Given the description of an element on the screen output the (x, y) to click on. 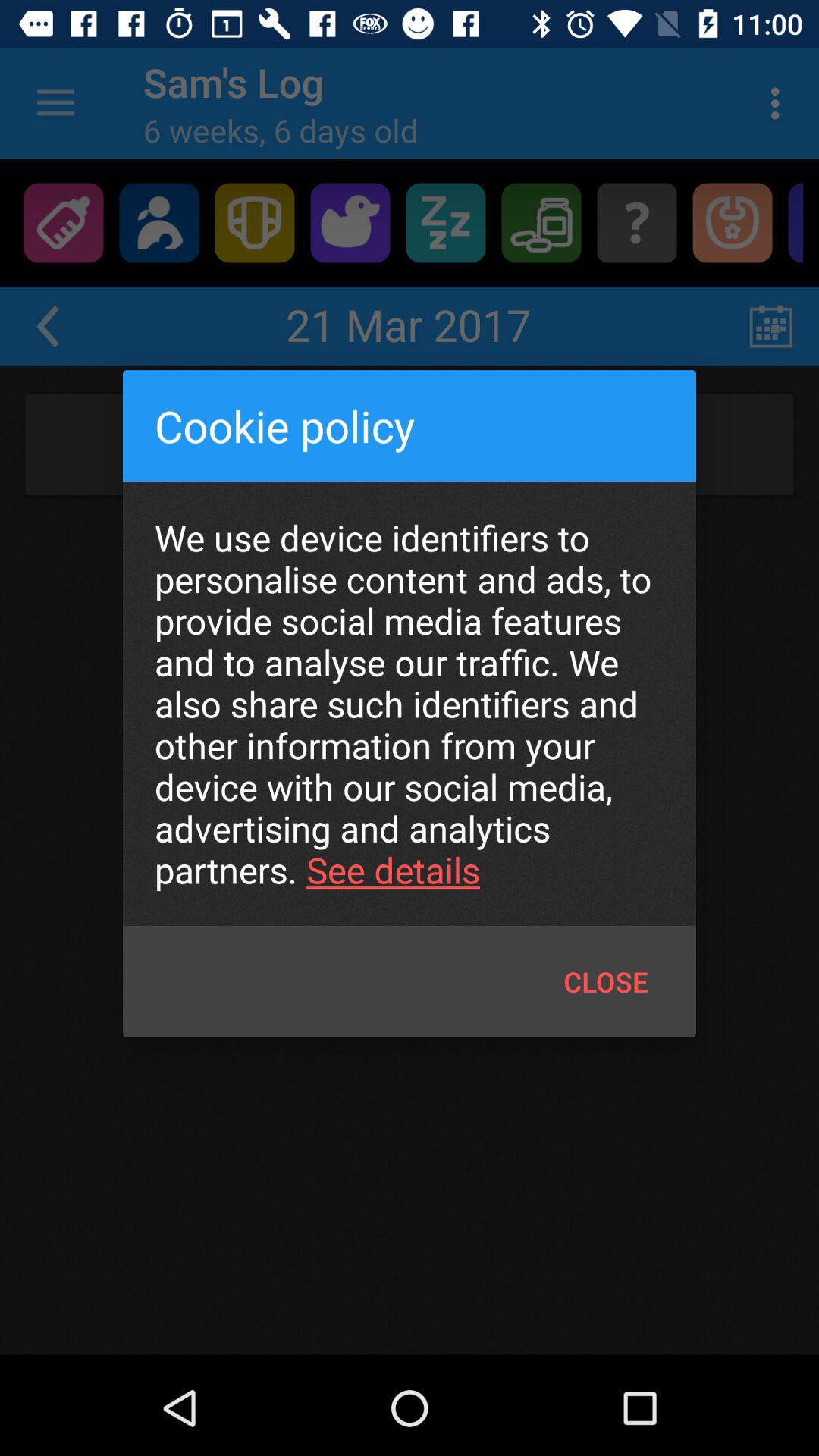
flip to we use device item (409, 703)
